Given the description of an element on the screen output the (x, y) to click on. 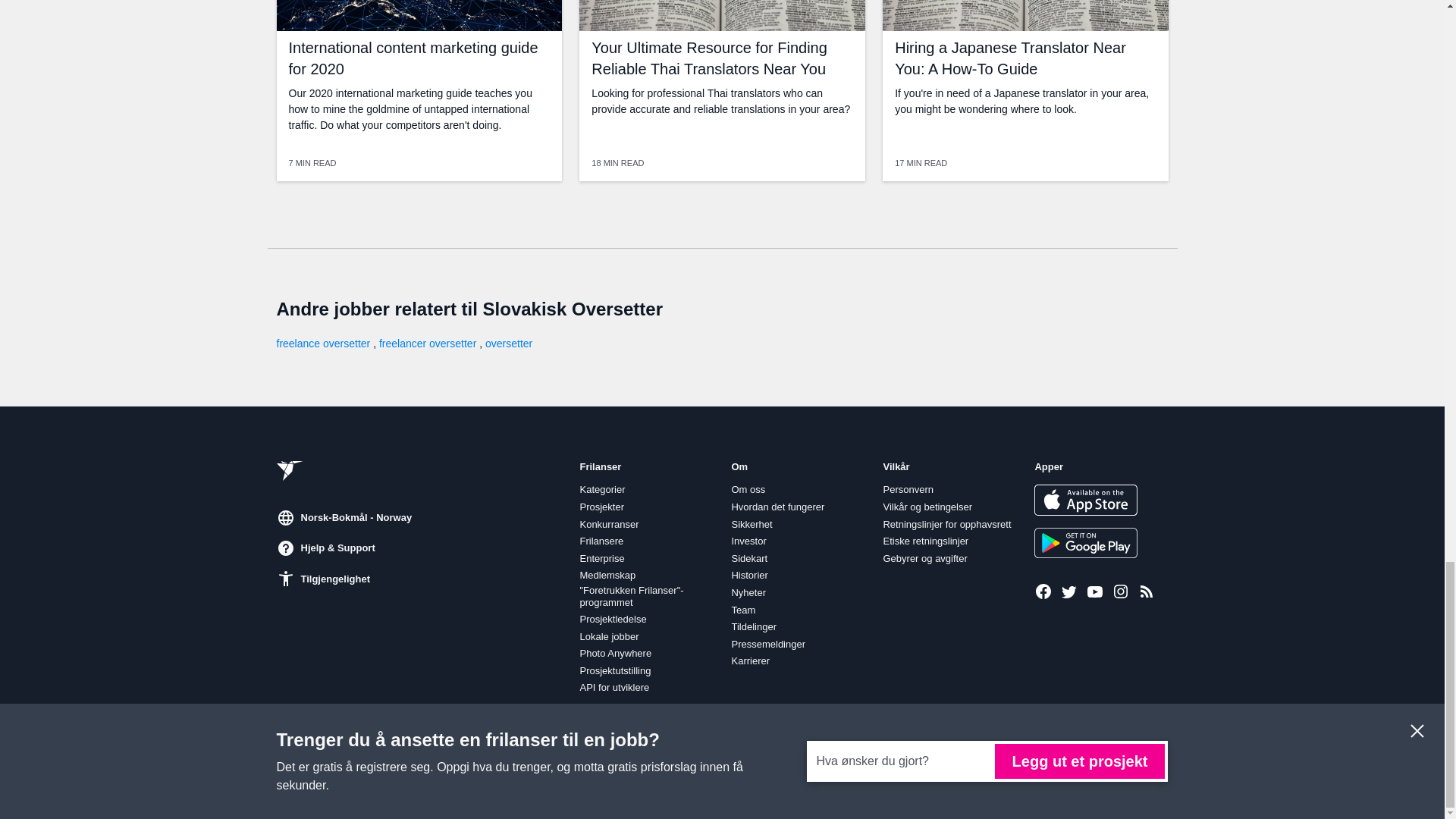
Siste prosjekter (1146, 591)
Last ned fra App Store (1085, 499)
